Given the description of an element on the screen output the (x, y) to click on. 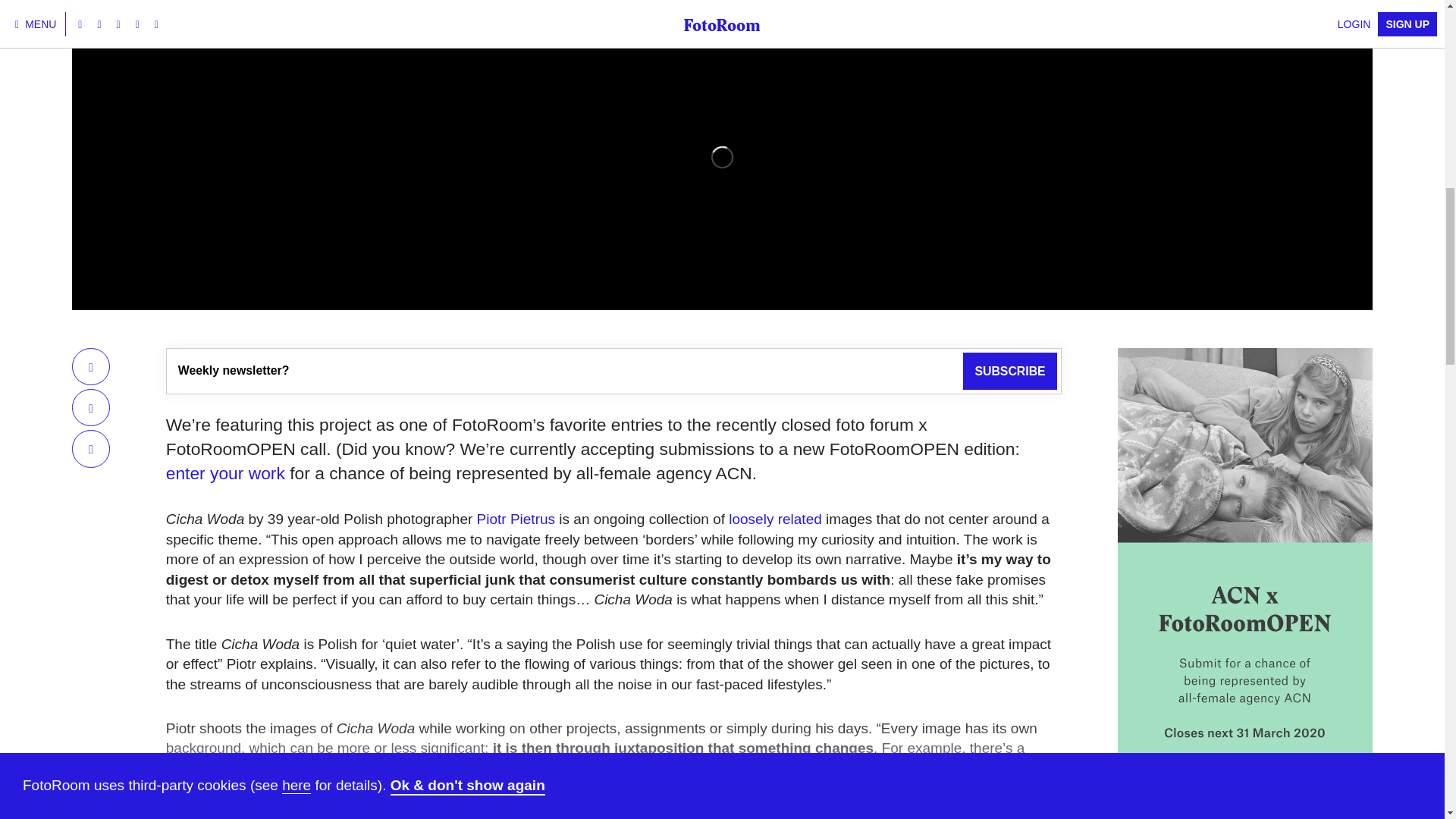
Subscribe (1009, 370)
